Given the description of an element on the screen output the (x, y) to click on. 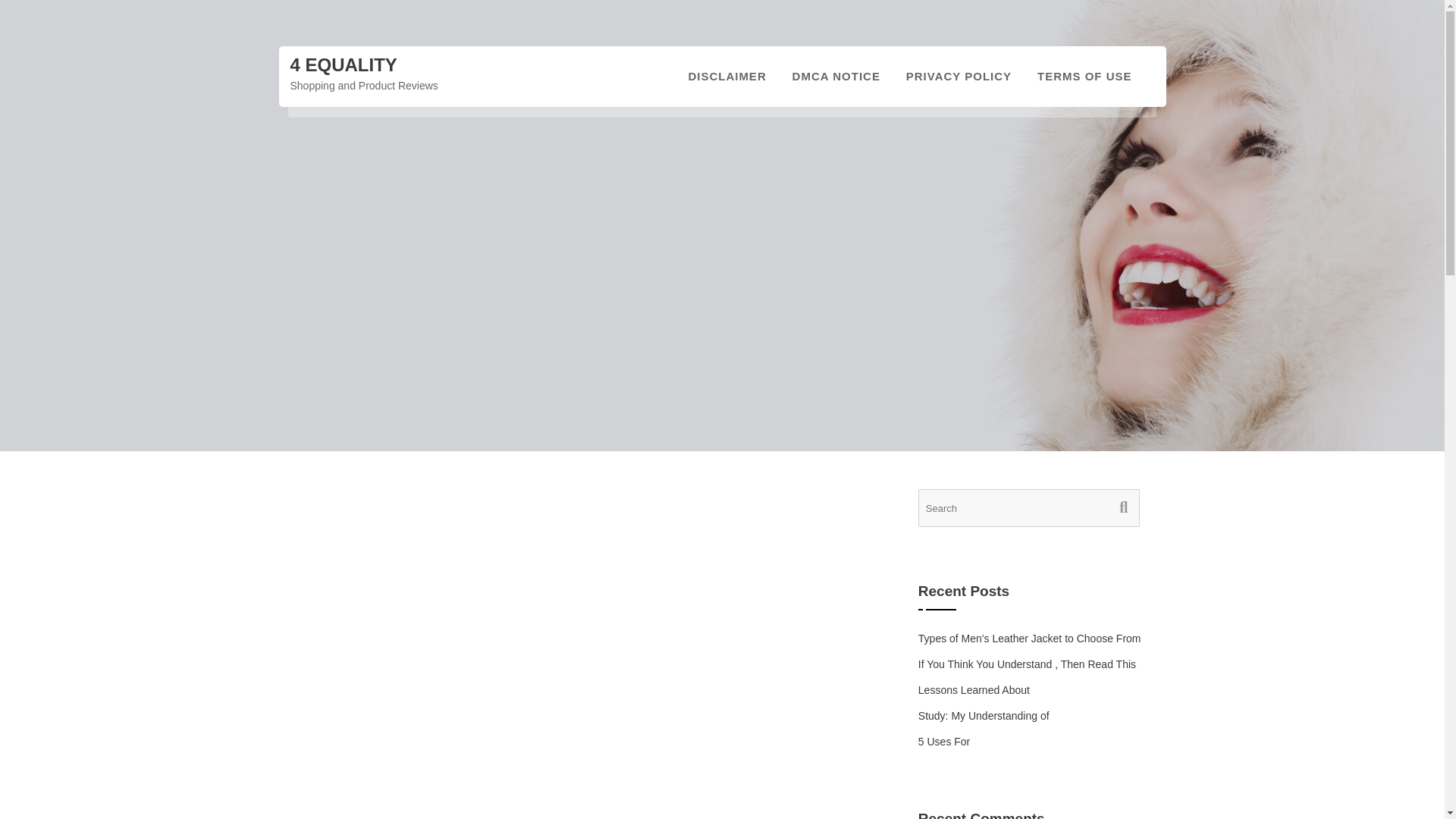
Lessons Learned About (973, 689)
5 Uses For (943, 741)
DMCA NOTICE (835, 76)
Study: My Understanding of (983, 715)
4 Equality (342, 64)
Types of Men's Leather Jacket to Choose From (1029, 638)
DISCLAIMER (727, 76)
4 EQUALITY (342, 64)
If You Think You Understand , Then Read This (1026, 664)
PRIVACY POLICY (959, 76)
